Given the description of an element on the screen output the (x, y) to click on. 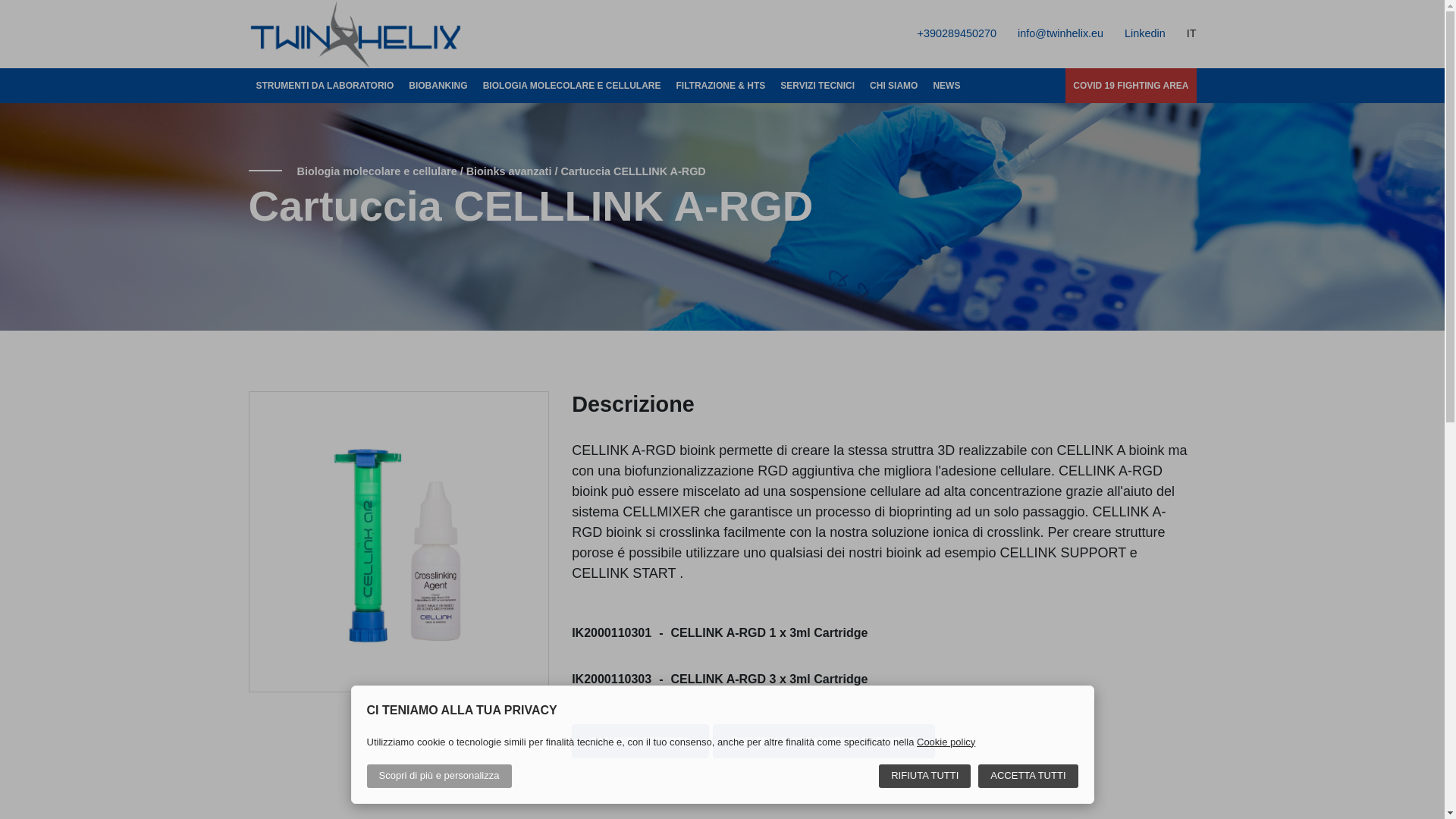
  Linkedin (1142, 33)
BIOBANKING (437, 85)
STRUMENTI DA LABORATORIO (324, 85)
